Given the description of an element on the screen output the (x, y) to click on. 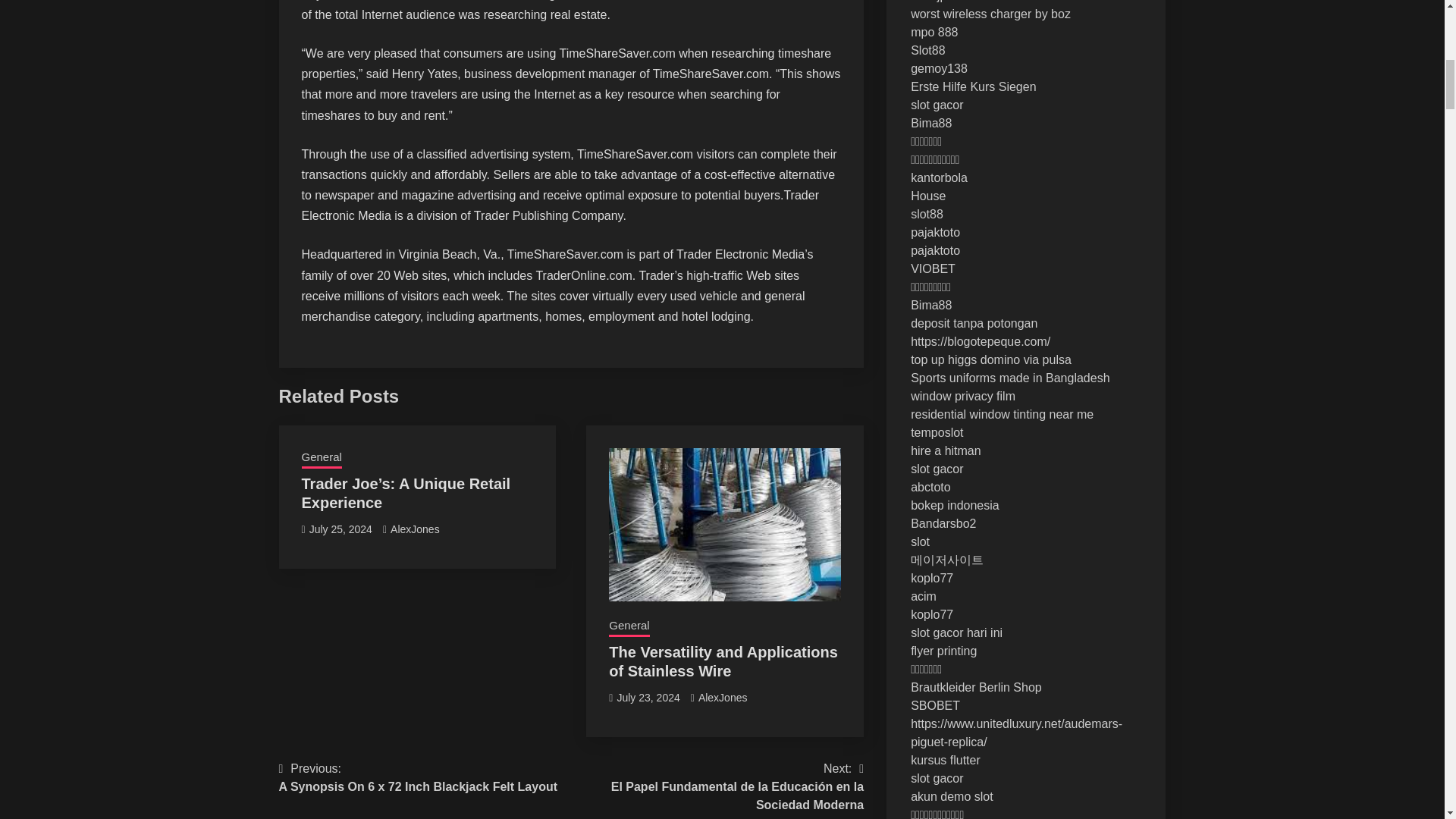
AlexJones (418, 778)
July 25, 2024 (414, 529)
July 23, 2024 (340, 529)
General (647, 697)
General (628, 627)
AlexJones (321, 458)
The Versatility and Applications of Stainless Wire (723, 697)
